Given the description of an element on the screen output the (x, y) to click on. 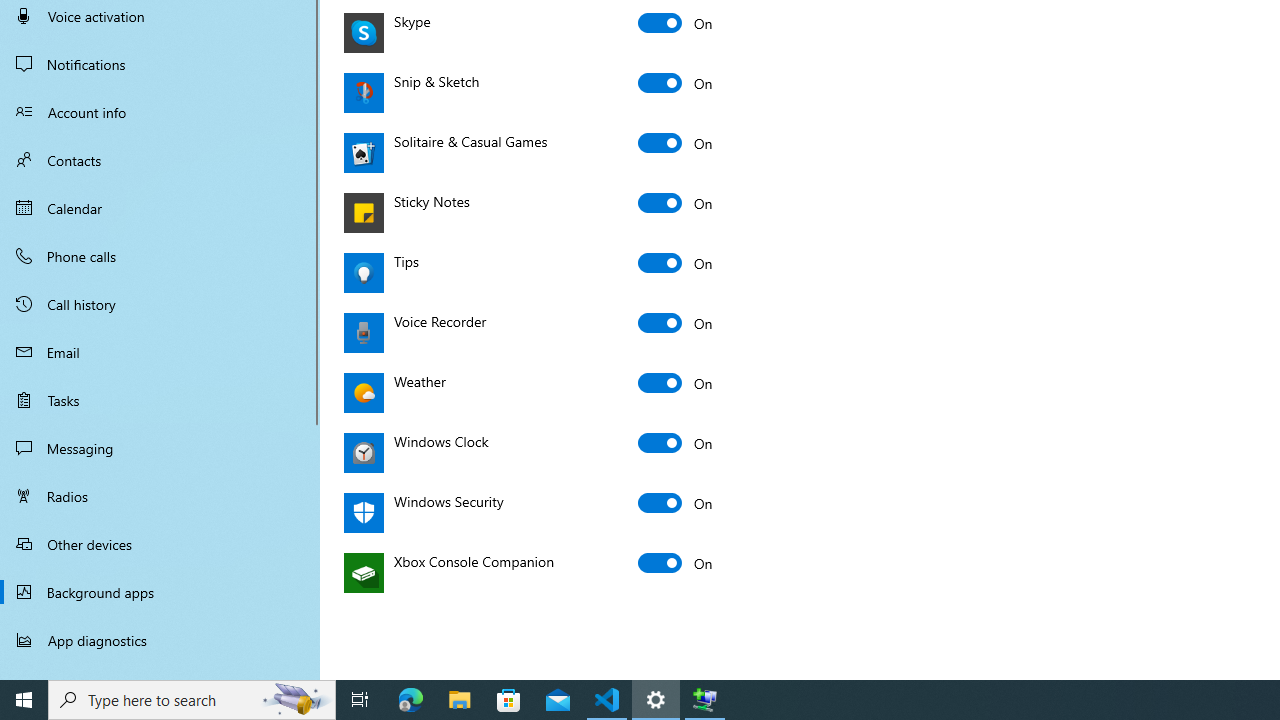
Messaging (160, 448)
Automatic file downloads (160, 671)
Tips (675, 262)
Email (160, 351)
Snip & Sketch (675, 82)
